Given the description of an element on the screen output the (x, y) to click on. 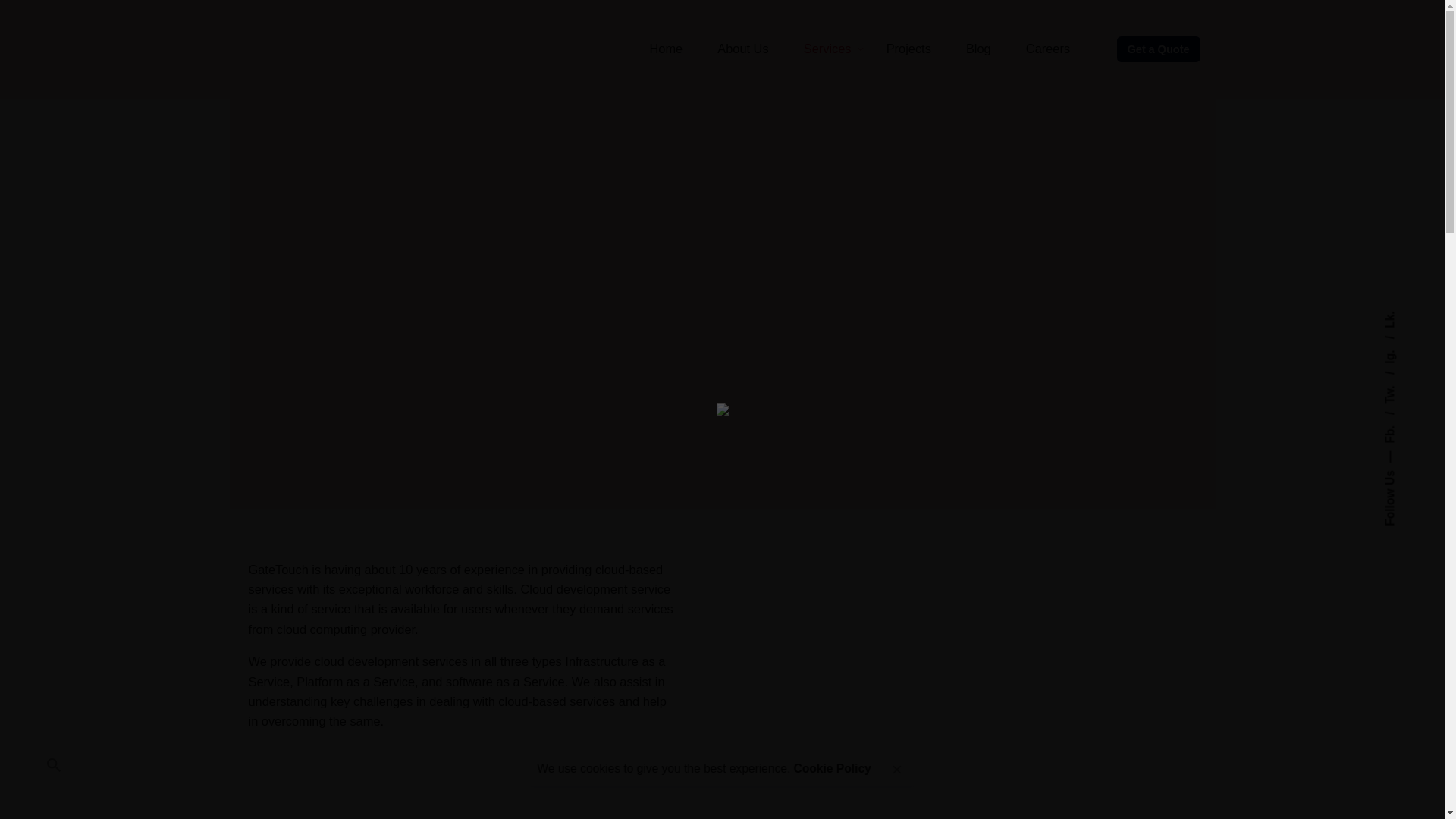
About Us (743, 49)
Fb. (1399, 418)
Services (827, 49)
Careers (1048, 49)
Home (665, 49)
Projects (909, 49)
Ig. (1396, 341)
Lk. (1391, 317)
Tw. (1399, 377)
Blog (979, 49)
